Given the description of an element on the screen output the (x, y) to click on. 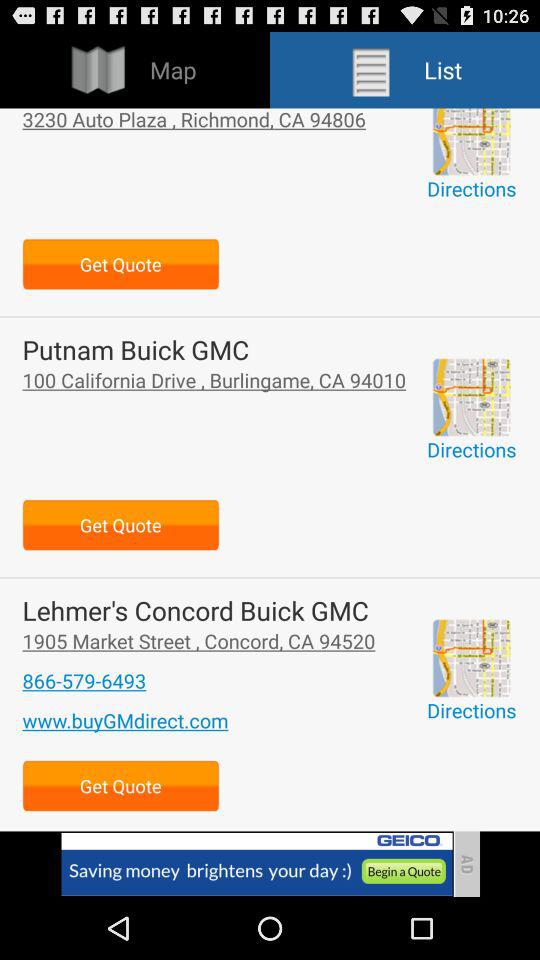
open the address map (471, 141)
